Given the description of an element on the screen output the (x, y) to click on. 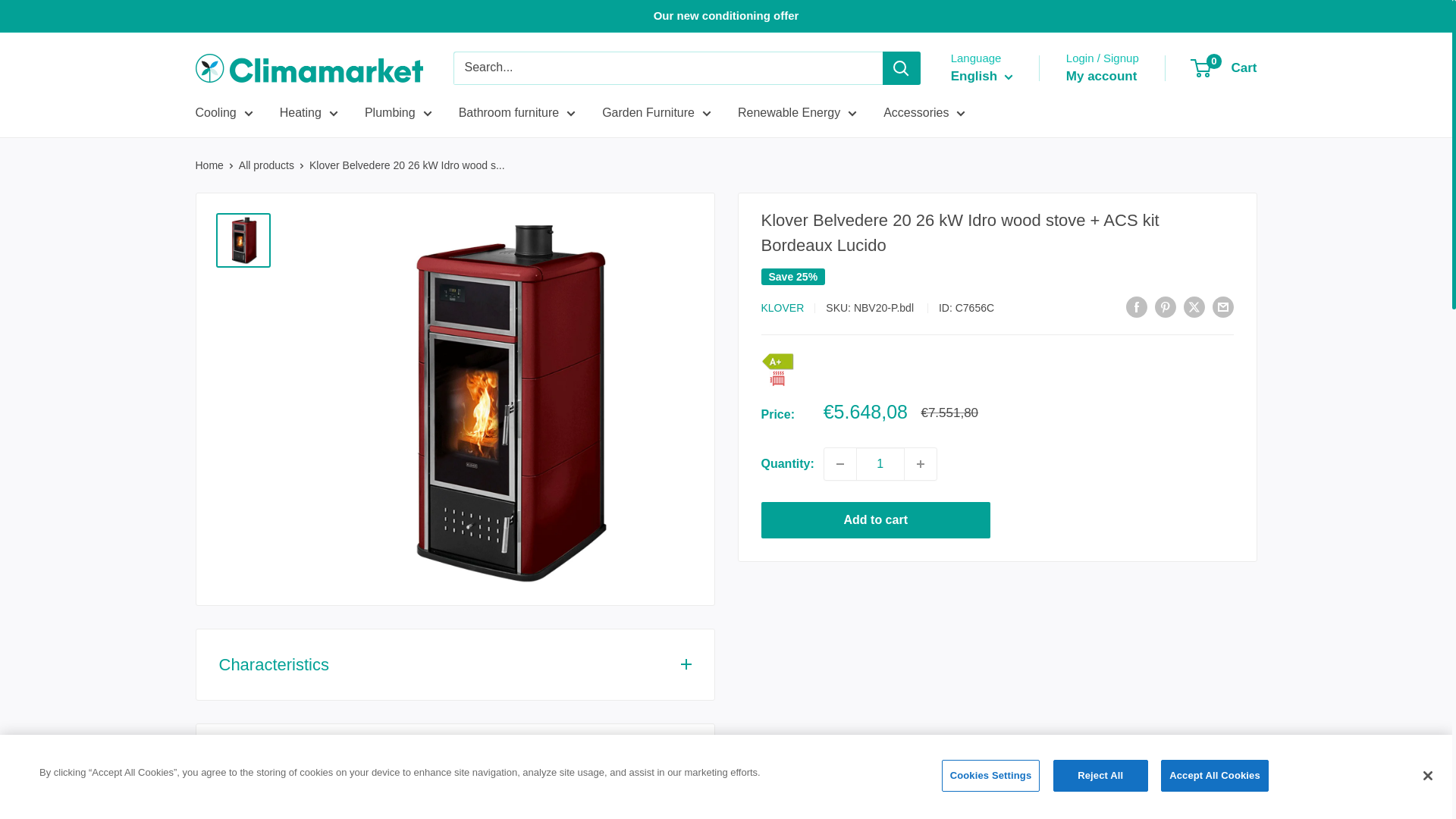
Decrease quantity by 1 (840, 463)
1 (880, 463)
Increase quantity by 1 (920, 463)
